Given the description of an element on the screen output the (x, y) to click on. 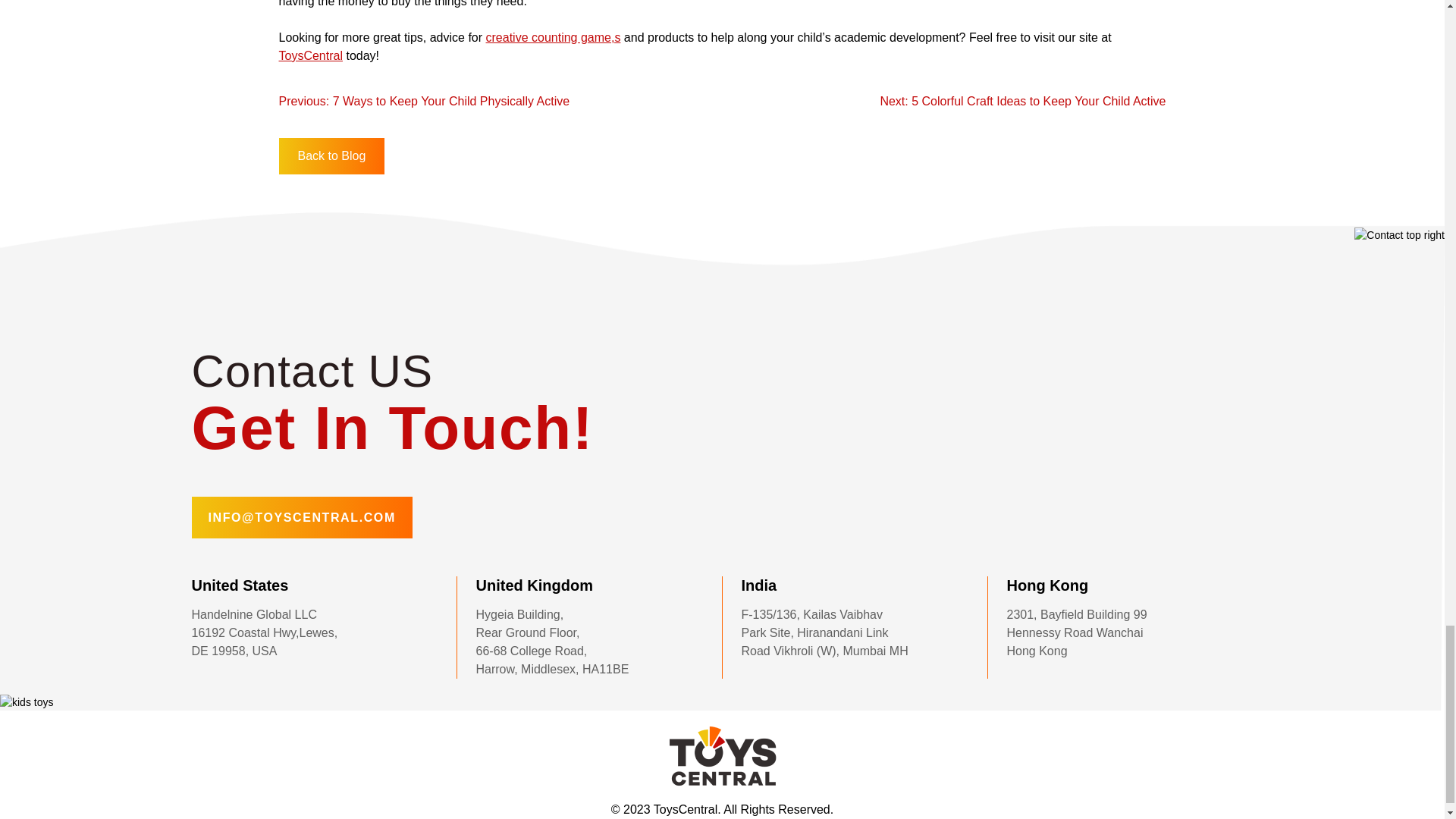
ToysCentral (310, 55)
Back to Blog (332, 156)
Previous: 7 Ways to Keep Your Child Physically Active (424, 101)
Next: 5 Colorful Craft Ideas to Keep Your Child Active (1022, 101)
creative counting game,s (553, 37)
